Given the description of an element on the screen output the (x, y) to click on. 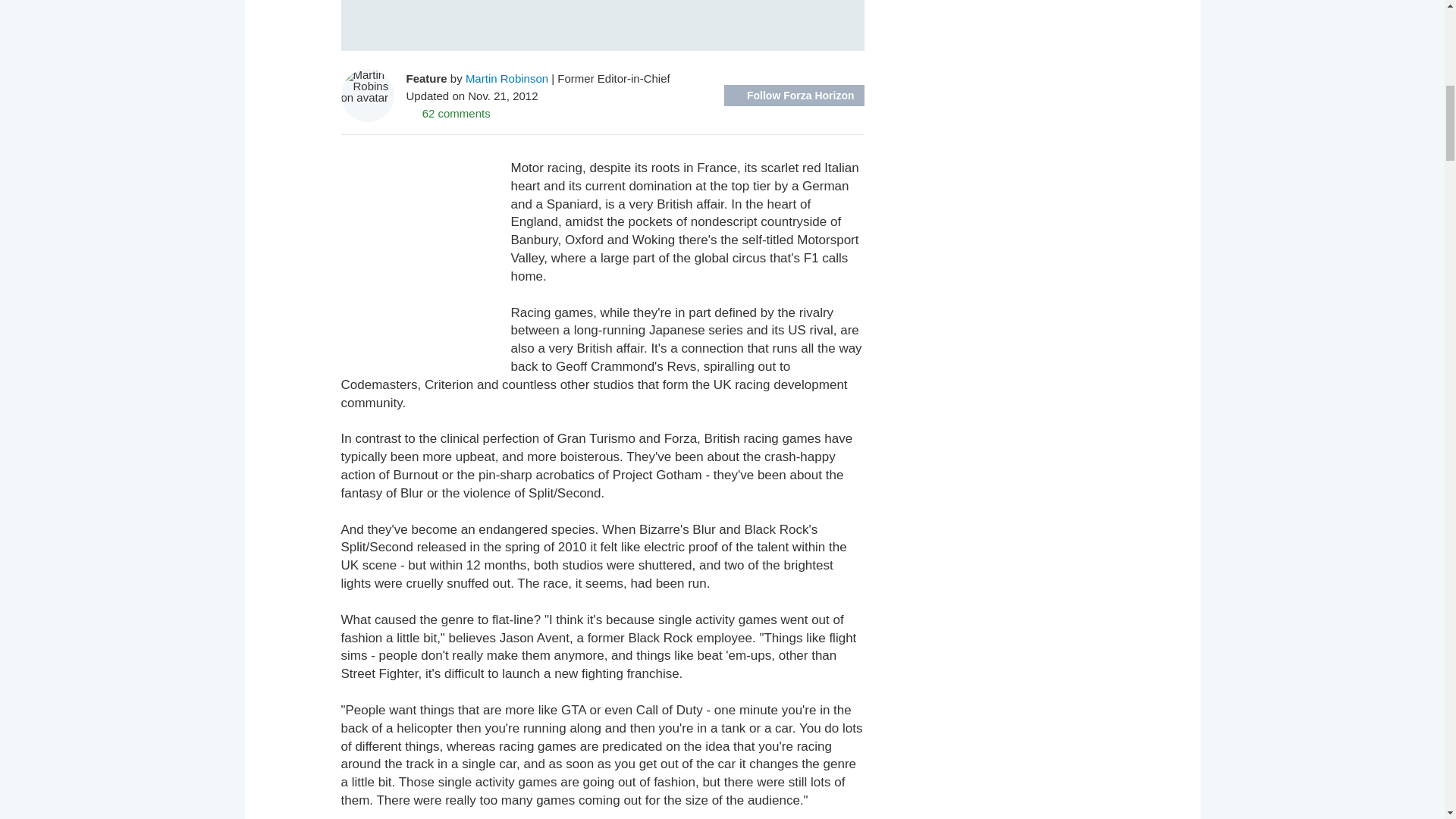
62 comments (448, 112)
Follow Forza Horizon (793, 95)
Martin Robinson (506, 77)
Follow Forza Horizon (793, 95)
